Given the description of an element on the screen output the (x, y) to click on. 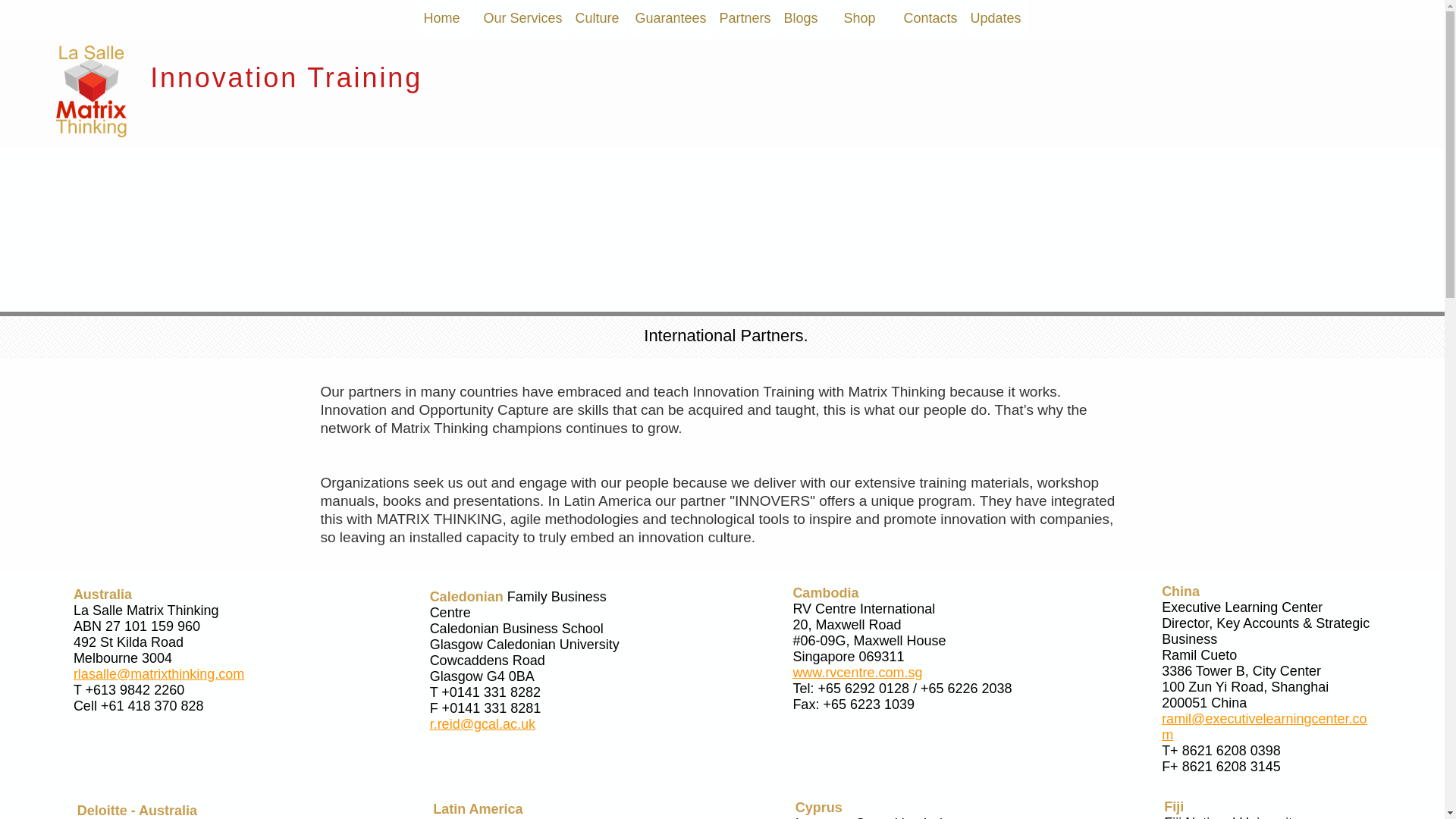
Home Element type: text (446, 18)
Updates Element type: text (995, 18)
Culture Element type: text (598, 18)
Blogs Element type: text (807, 18)
r.reid@gcal.ac.uk Element type: text (482, 723)
ramil@executivelearningcenter.com Element type: text (1263, 726)
Shop Element type: text (867, 18)
Guarantees Element type: text (670, 18)
Partners Element type: text (744, 18)
Our Services Element type: text (522, 18)
www.rvcentre.com.sg Element type: text (857, 672)
Contacts Element type: text (930, 18)
rlasalle@matrixthinking.com Element type: text (158, 672)
